Given the description of an element on the screen output the (x, y) to click on. 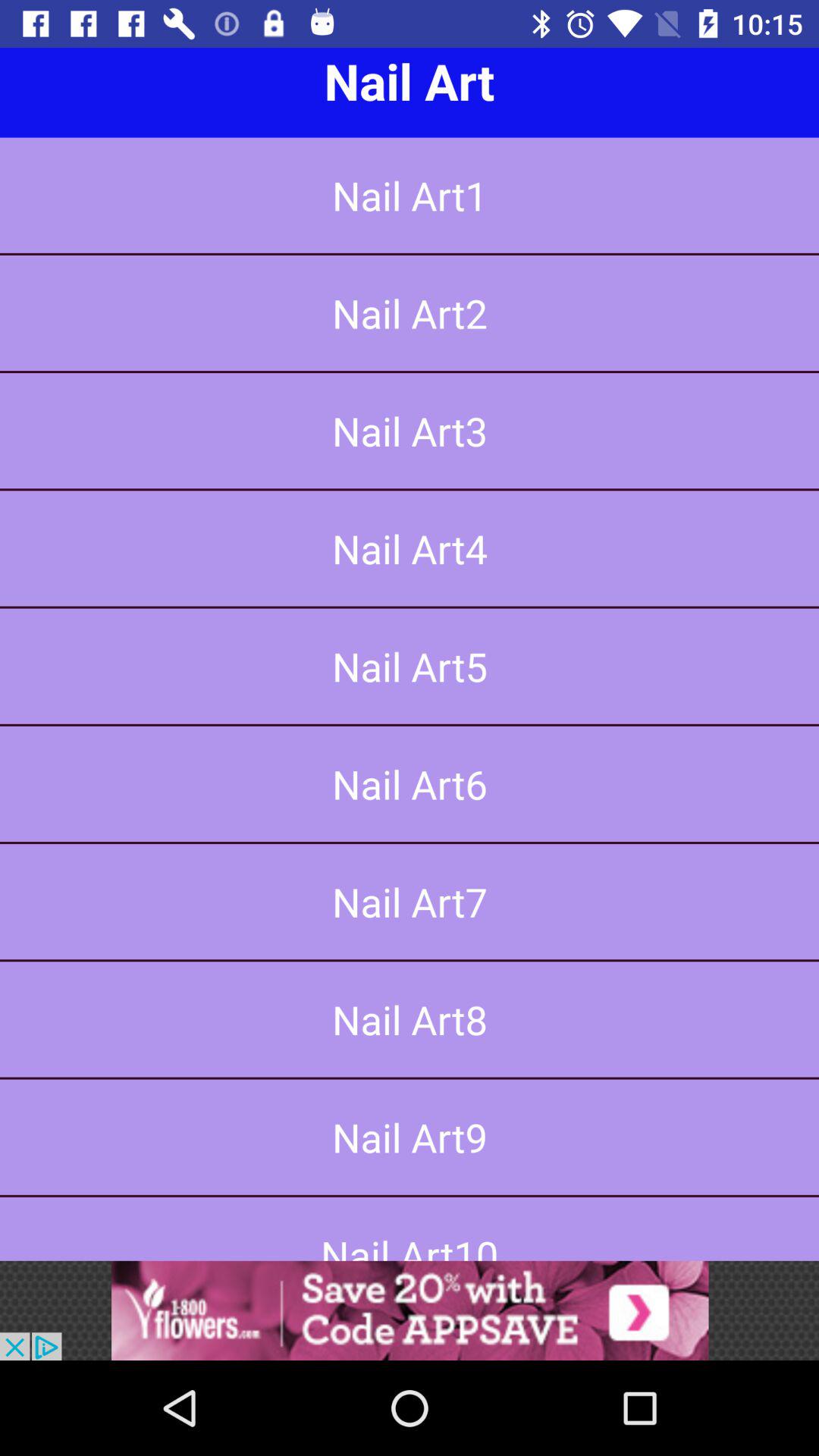
advertisement (409, 1310)
